Given the description of an element on the screen output the (x, y) to click on. 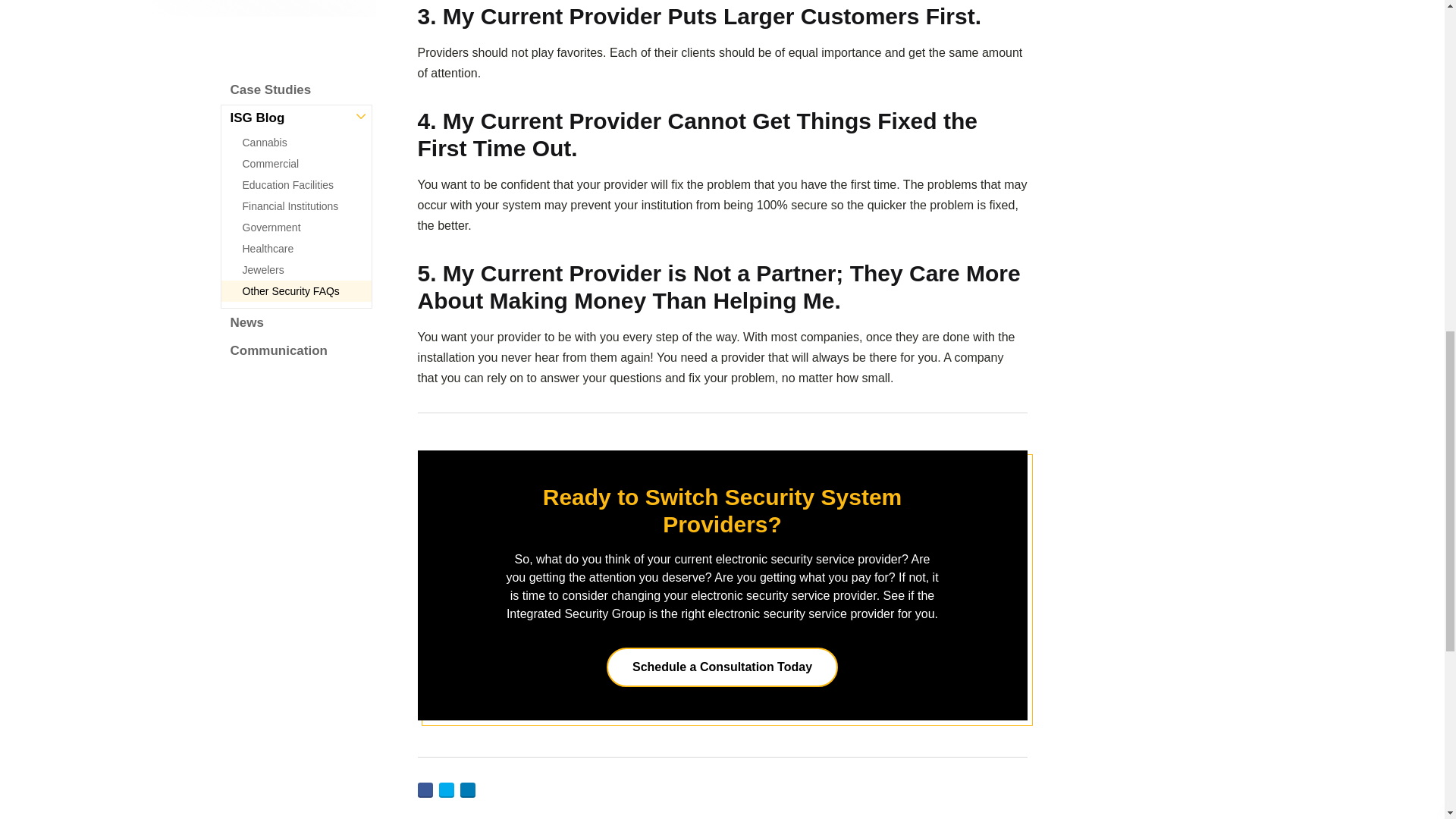
Share on Facebook (424, 789)
Share on LinkedIn (467, 789)
Share on Twitter (445, 789)
